Given the description of an element on the screen output the (x, y) to click on. 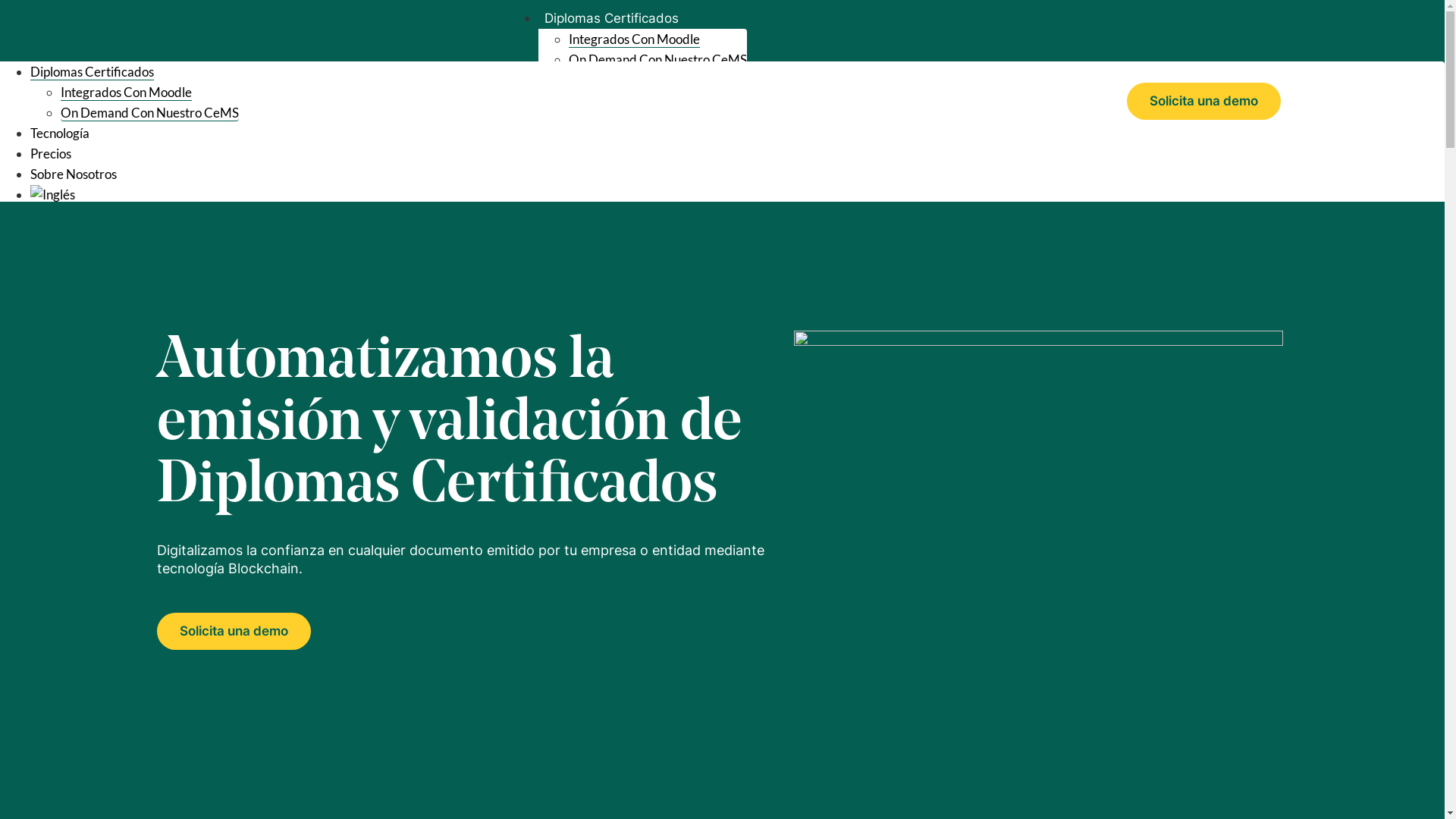
Precios Element type: text (50, 153)
On Demand Con Nuestro CeMS Element type: text (149, 112)
Sobre nosotros Element type: text (590, 120)
On Demand Con Nuestro CeMS Element type: text (657, 59)
Integrados Con Moodle Element type: text (633, 38)
Diplomas Certificados Element type: text (611, 17)
Precios Element type: text (566, 100)
Sobre Nosotros Element type: text (73, 174)
Diplomas Certificados Element type: text (91, 71)
Solicita una demo Element type: text (1203, 100)
Integrados Con Moodle Element type: text (125, 92)
Solicita una demo Element type: text (233, 630)
